Given the description of an element on the screen output the (x, y) to click on. 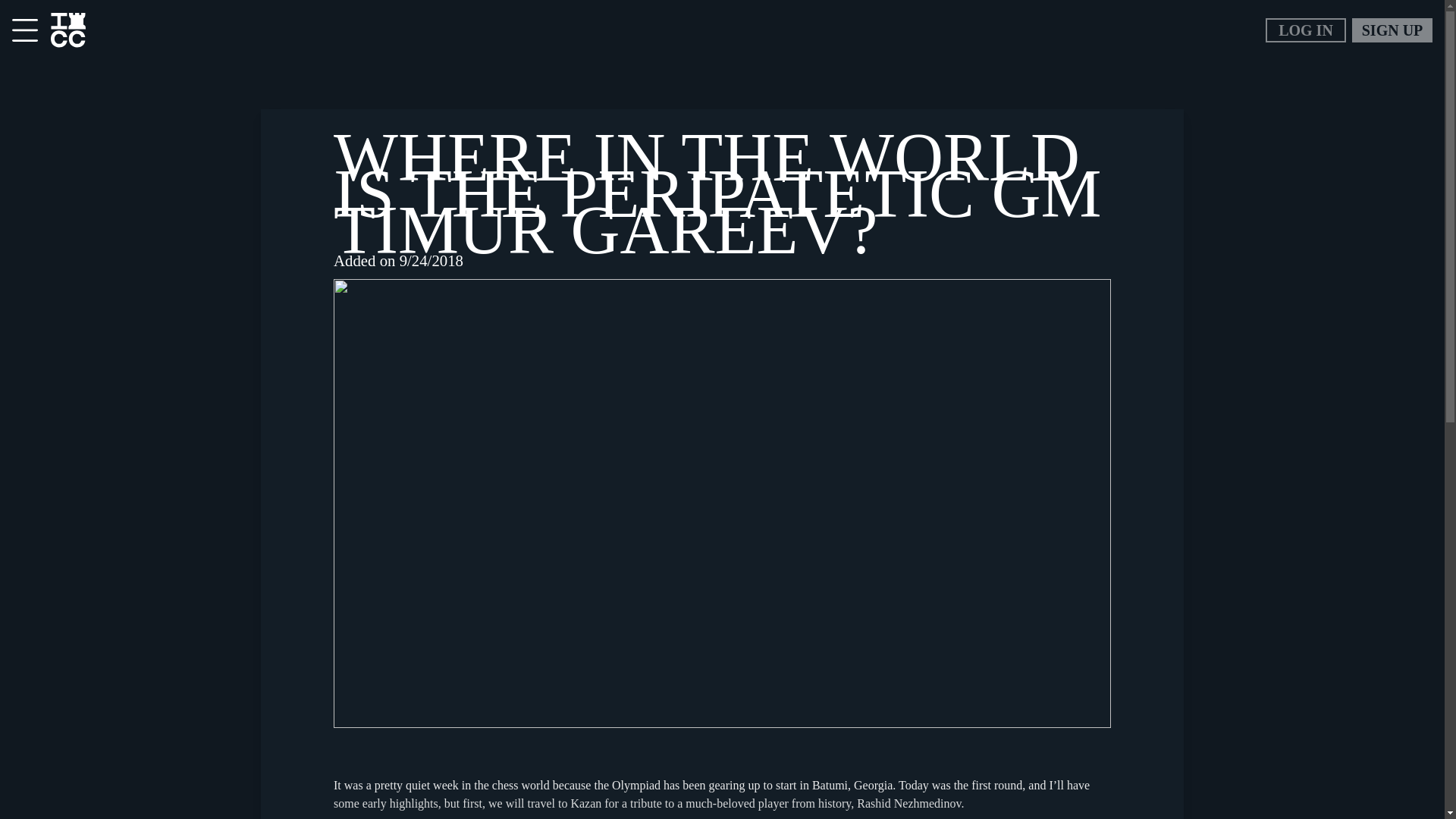
LOG IN (1305, 30)
SIGN UP (1392, 30)
WHERE IN THE WORLD IS THE PERIPATETIC GM TIMUR GAREEV? (717, 193)
